Given the description of an element on the screen output the (x, y) to click on. 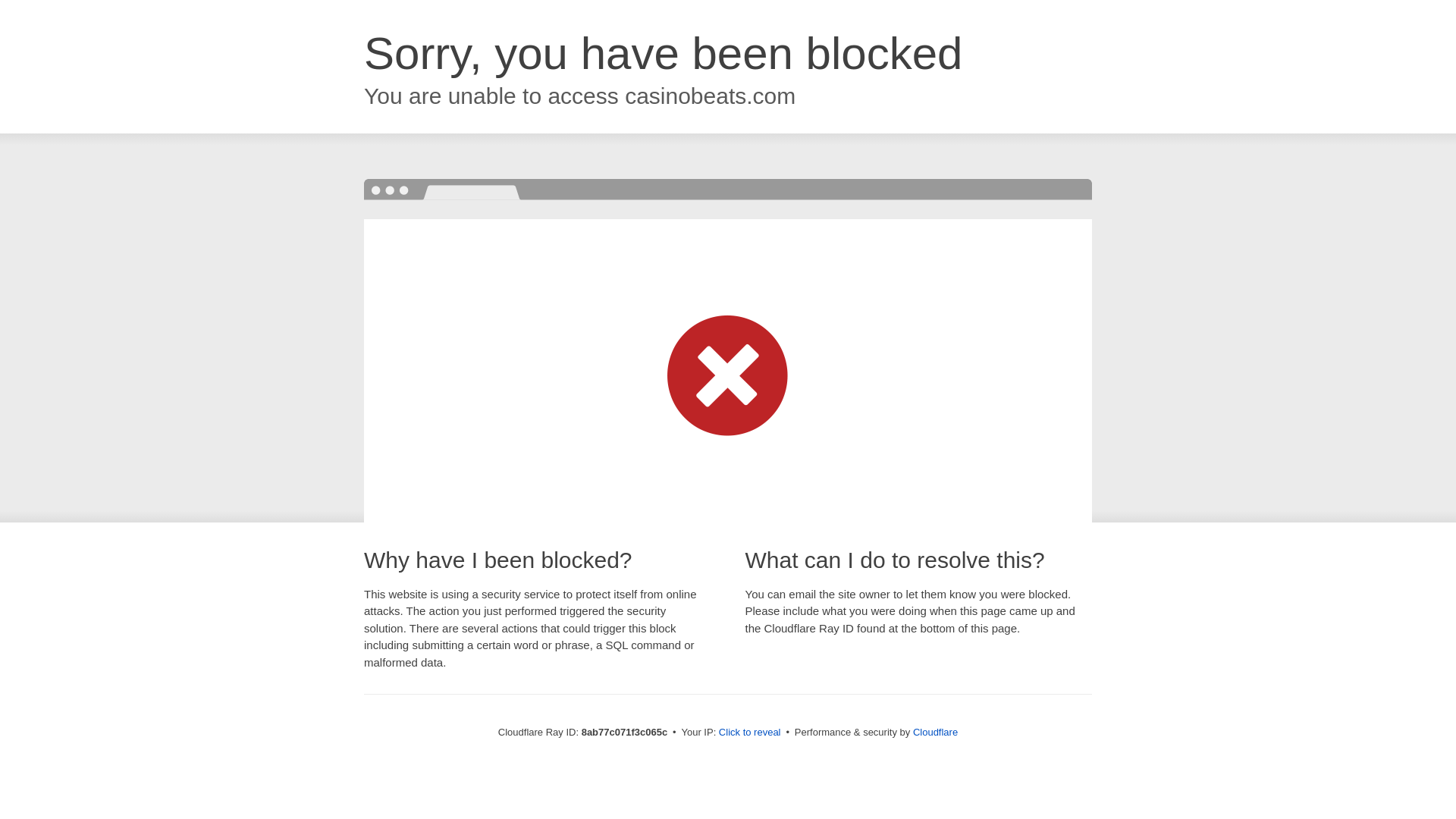
Cloudflare (935, 731)
Click to reveal (749, 732)
